Given the description of an element on the screen output the (x, y) to click on. 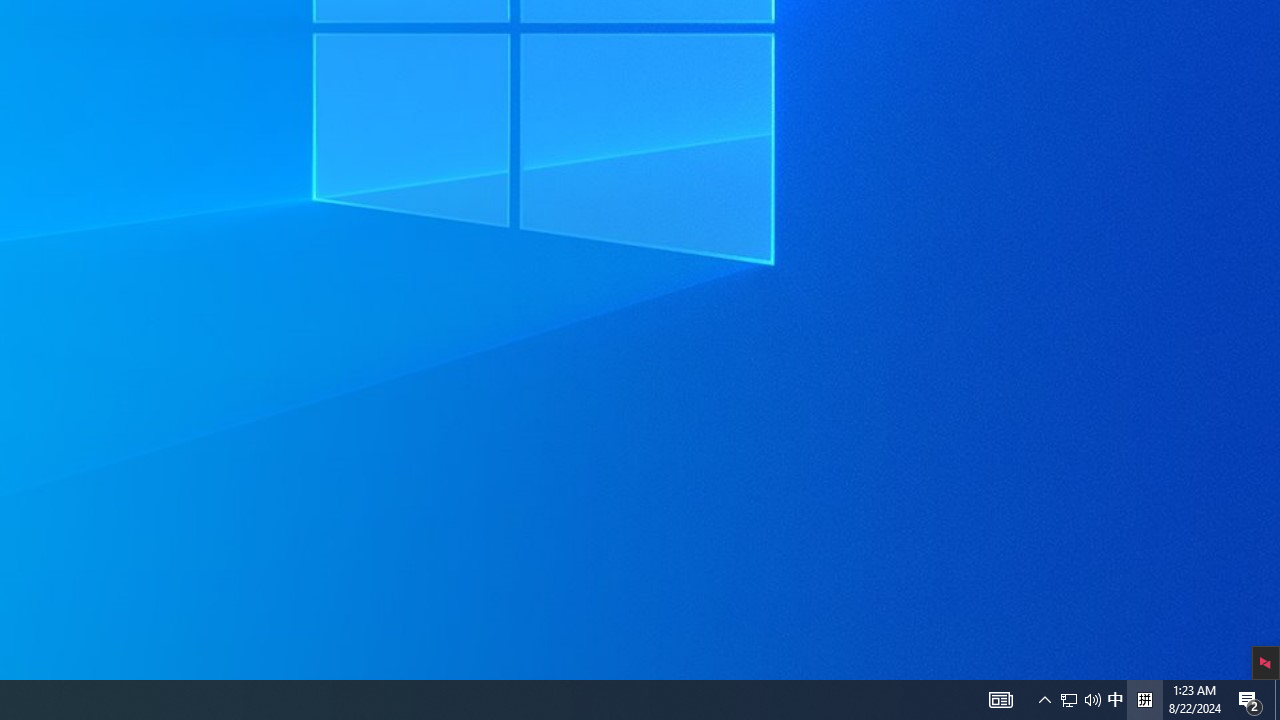
User Promoted Notification Area (1115, 699)
AutomationID: 4105 (1080, 699)
Tray Input Indicator - Chinese (Simplified, China) (1000, 699)
Action Center, 2 new notifications (1144, 699)
Show desktop (1250, 699)
Q2790: 100% (1277, 699)
Notification Chevron (1069, 699)
